Given the description of an element on the screen output the (x, y) to click on. 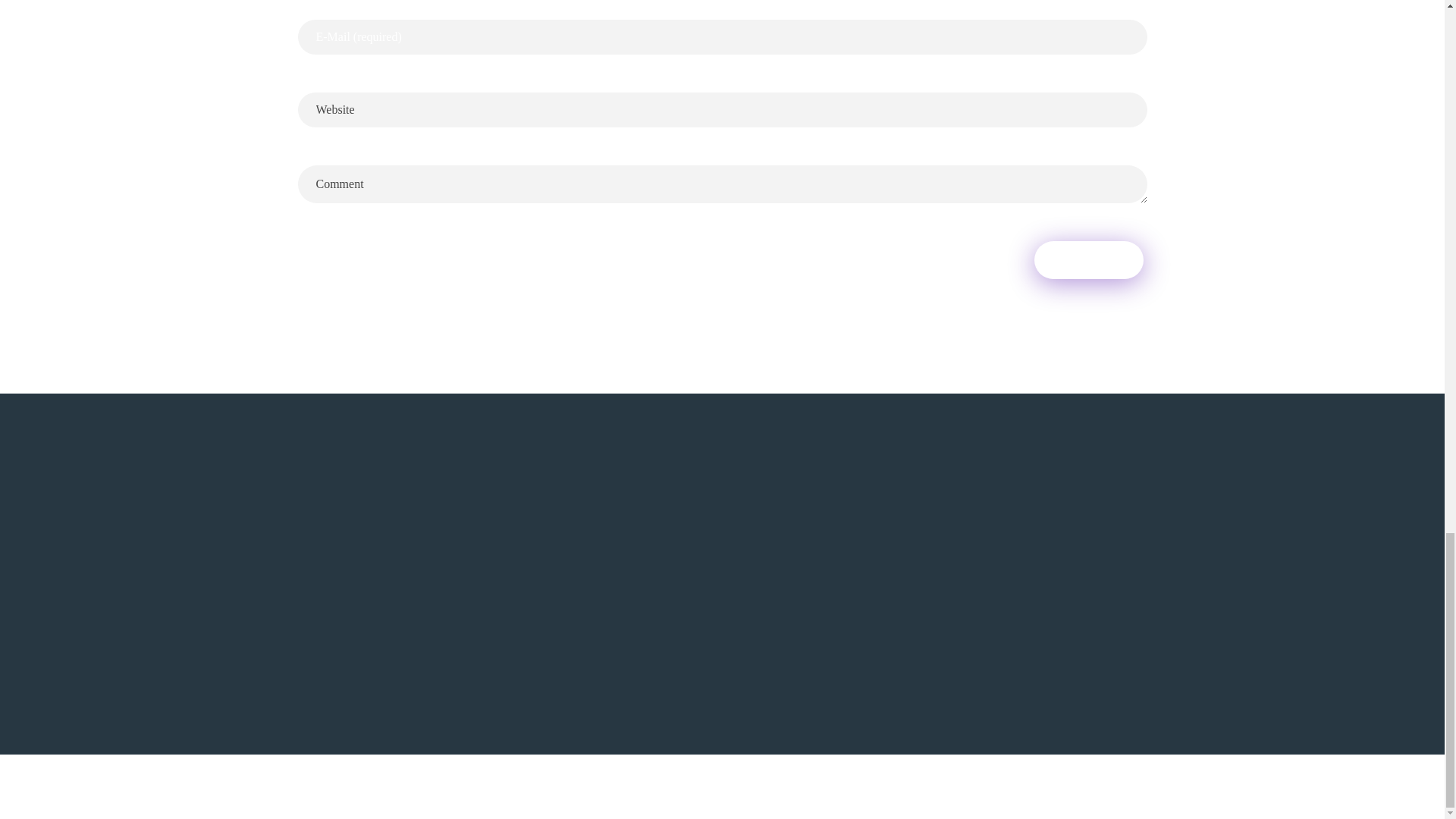
Submit (1087, 259)
Submit (1087, 259)
